Given the description of an element on the screen output the (x, y) to click on. 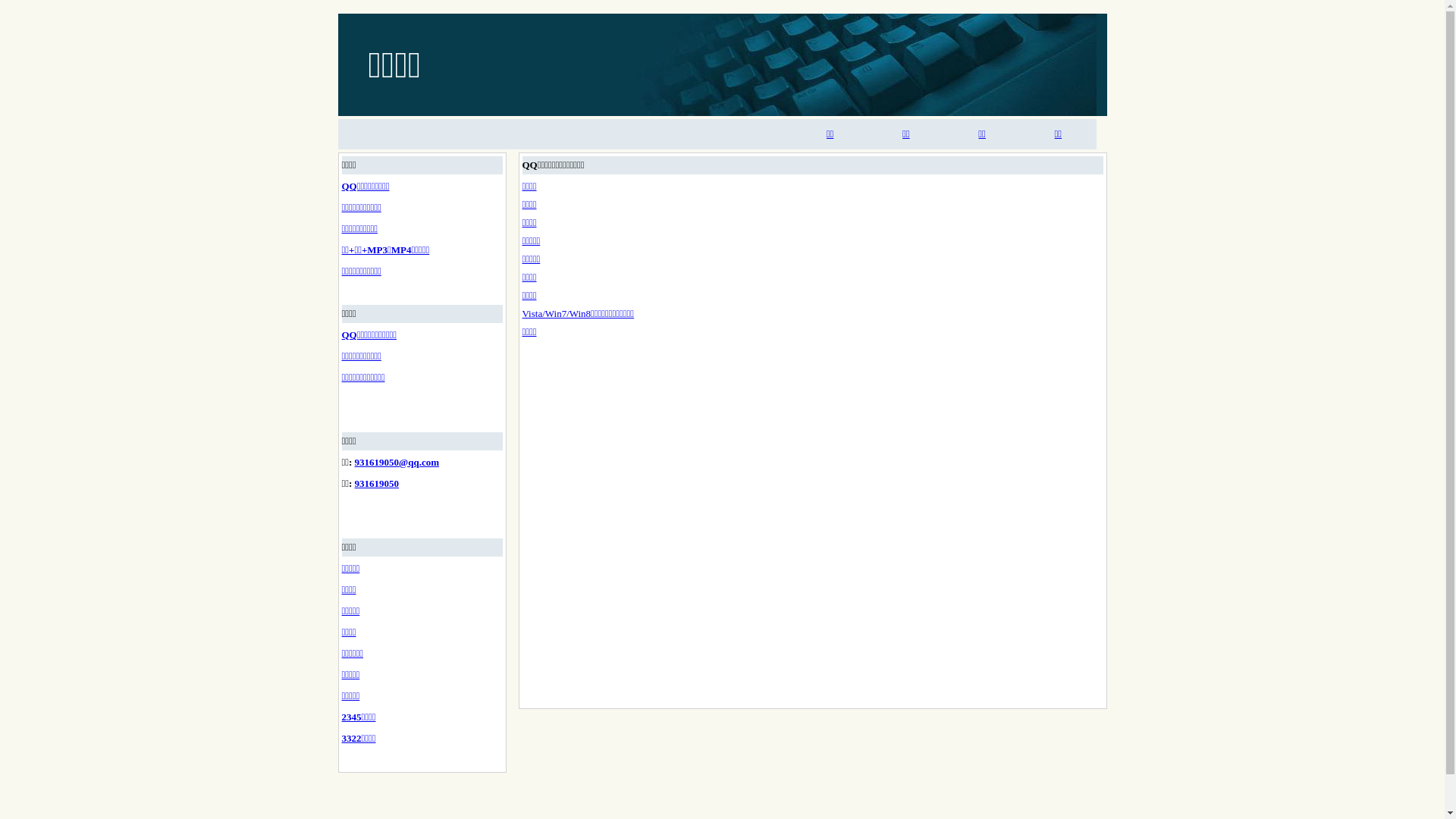
931619050 Element type: text (376, 483)
931619050@qq.com Element type: text (396, 461)
